Given the description of an element on the screen output the (x, y) to click on. 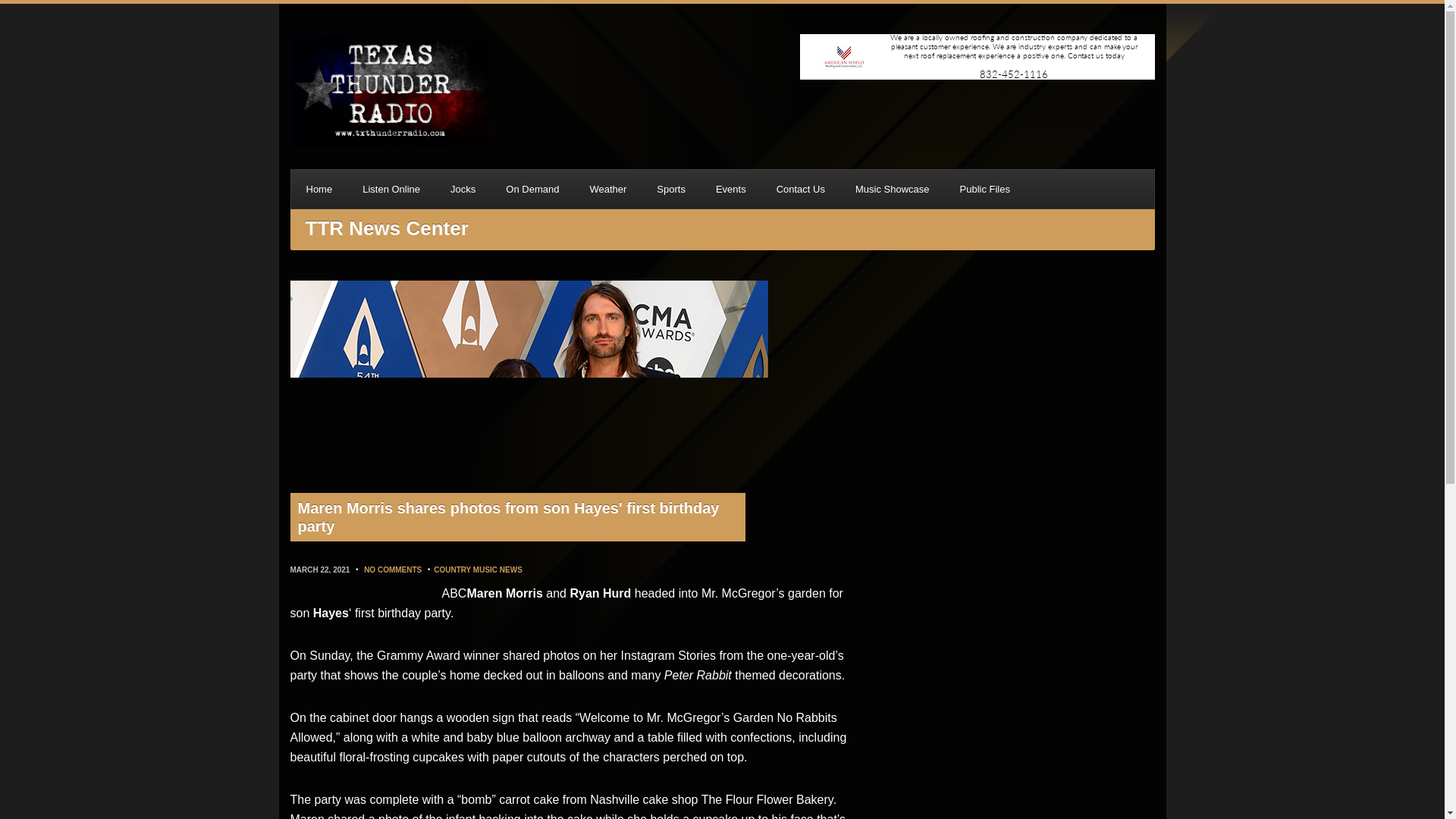
Contact Us (800, 188)
Home (319, 188)
On Demand (531, 188)
Music Showcase (892, 188)
COUNTRY MUSIC NEWS (477, 569)
Sports (671, 188)
Weather (607, 188)
NO COMMENTS (393, 569)
Listen Online (391, 188)
Events (730, 188)
Jocks (462, 188)
Public Files (984, 188)
